Given the description of an element on the screen output the (x, y) to click on. 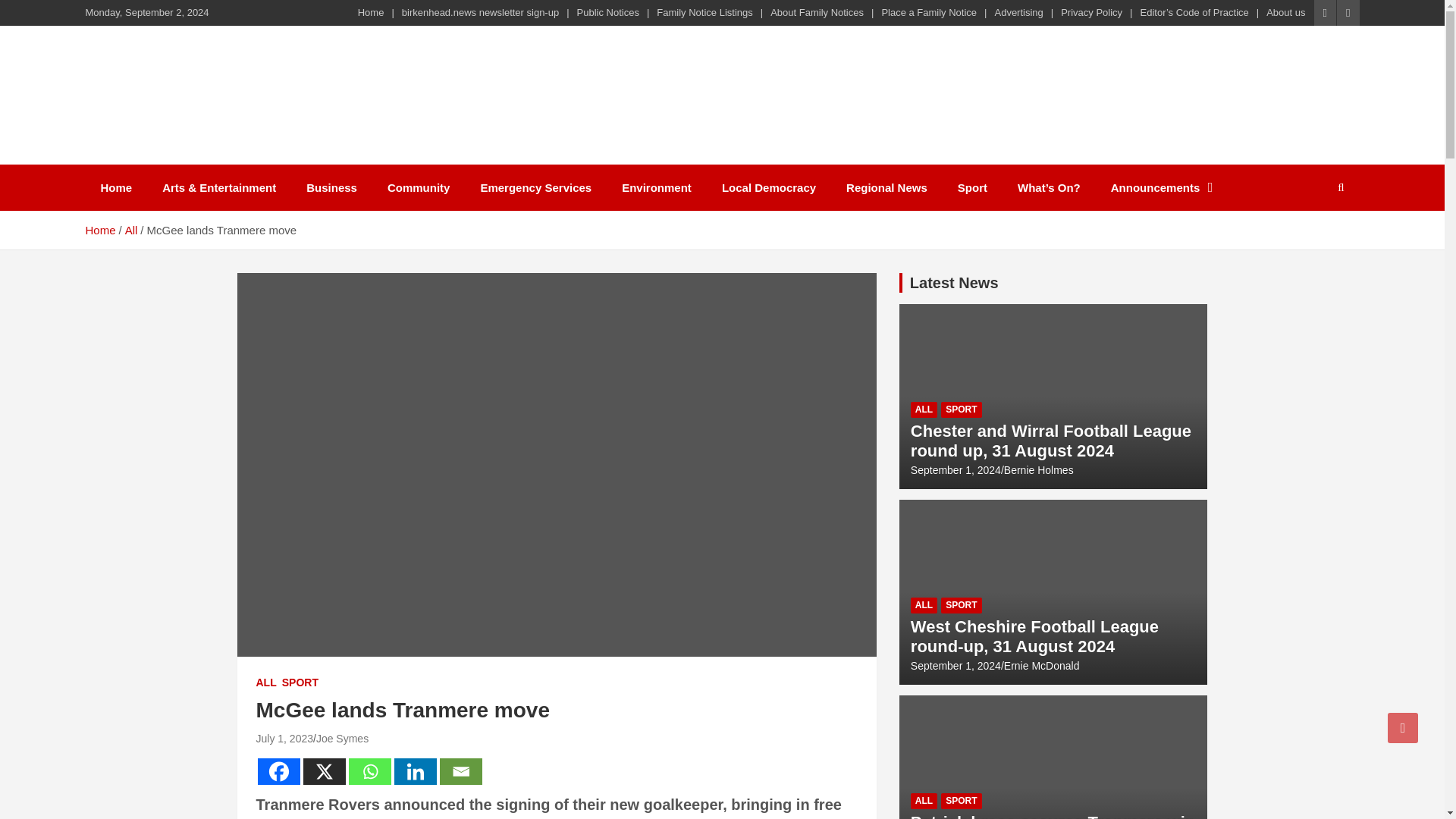
Privacy Policy (1091, 12)
Home (115, 187)
Home (371, 12)
Public Notices (607, 12)
ALL (266, 683)
McGee lands Tranmere move (285, 738)
Local Democracy (768, 187)
Facebook (278, 771)
Whatsapp (370, 771)
Business (331, 187)
